Given the description of an element on the screen output the (x, y) to click on. 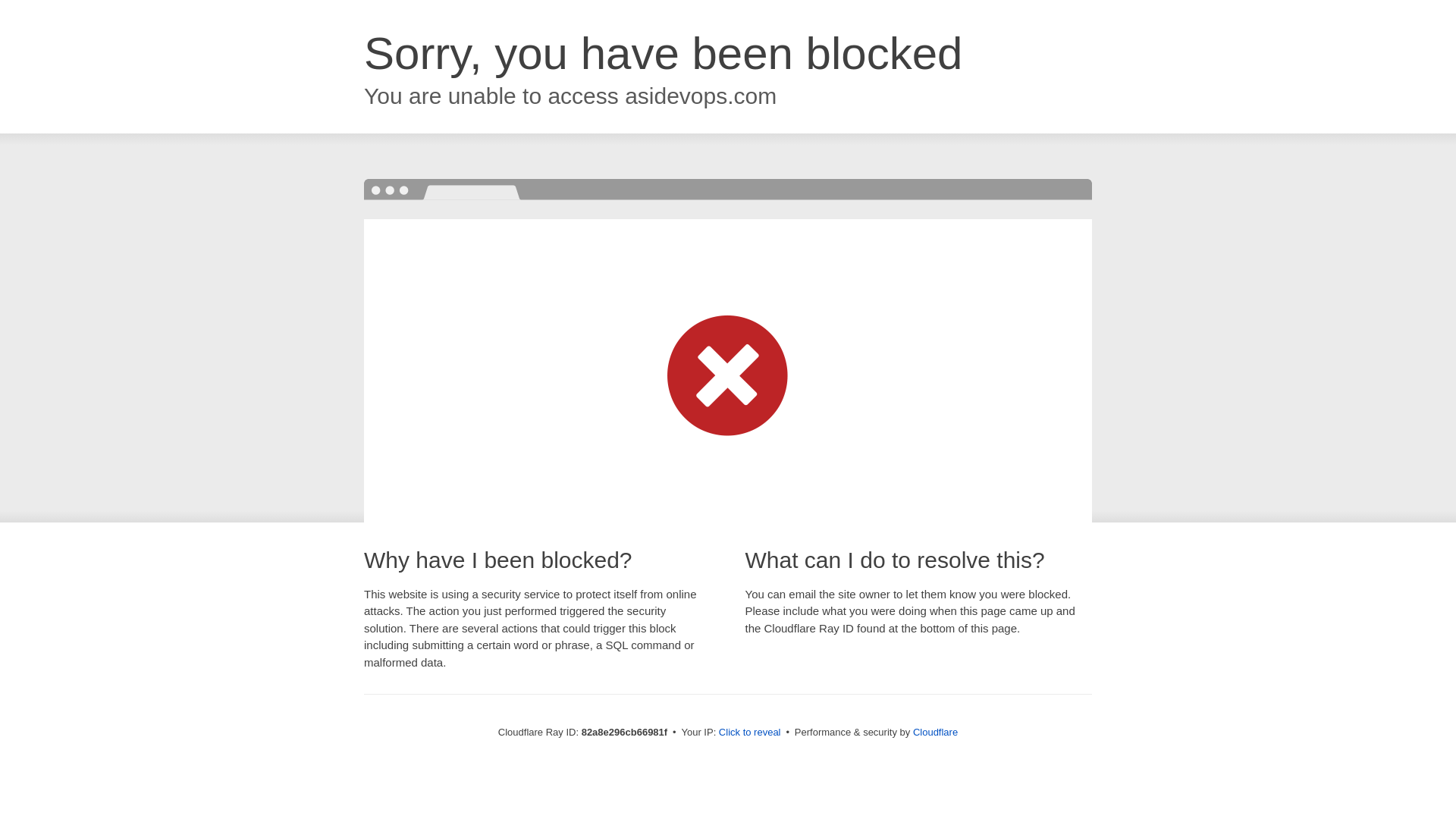
Cloudflare Element type: text (935, 731)
Click to reveal Element type: text (749, 732)
